Given the description of an element on the screen output the (x, y) to click on. 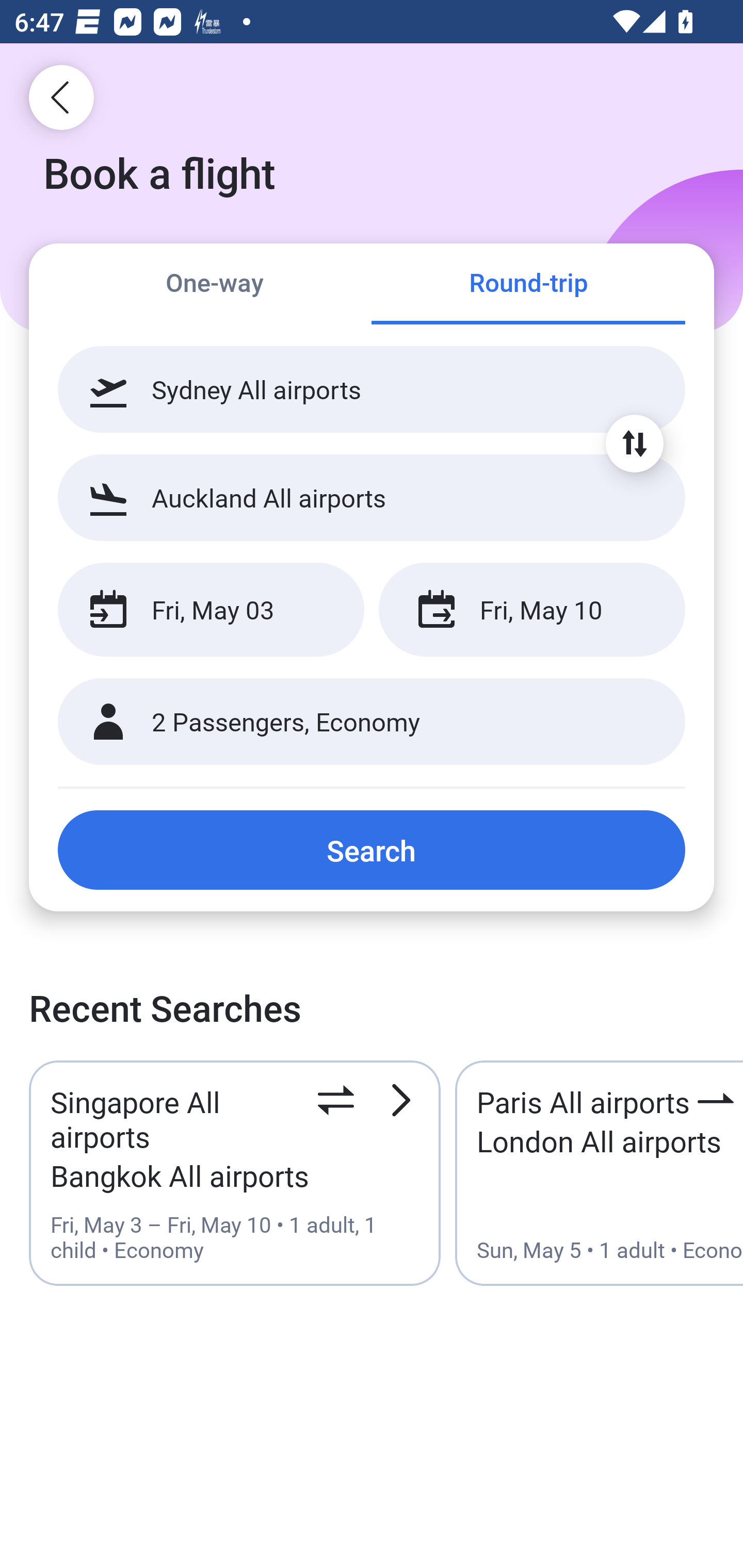
One-way (214, 284)
Sydney All airports (371, 389)
Auckland All airports (371, 497)
Fri, May 03 (210, 609)
Fri, May 10 (531, 609)
2 Passengers, Economy (371, 721)
Search (371, 849)
